Given the description of an element on the screen output the (x, y) to click on. 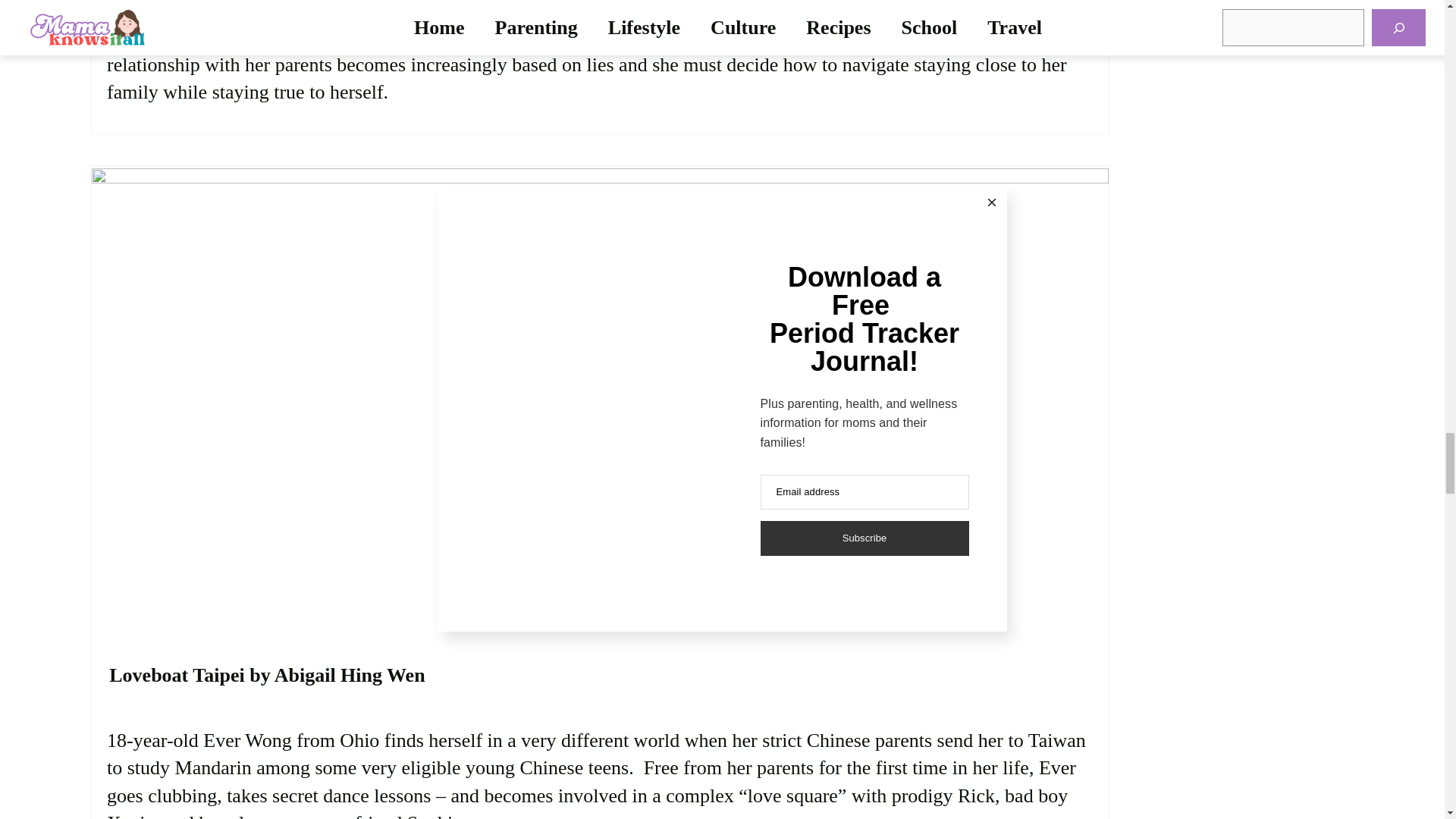
Loveboat Taipei by Abigail Hing Wen (267, 674)
